Given the description of an element on the screen output the (x, y) to click on. 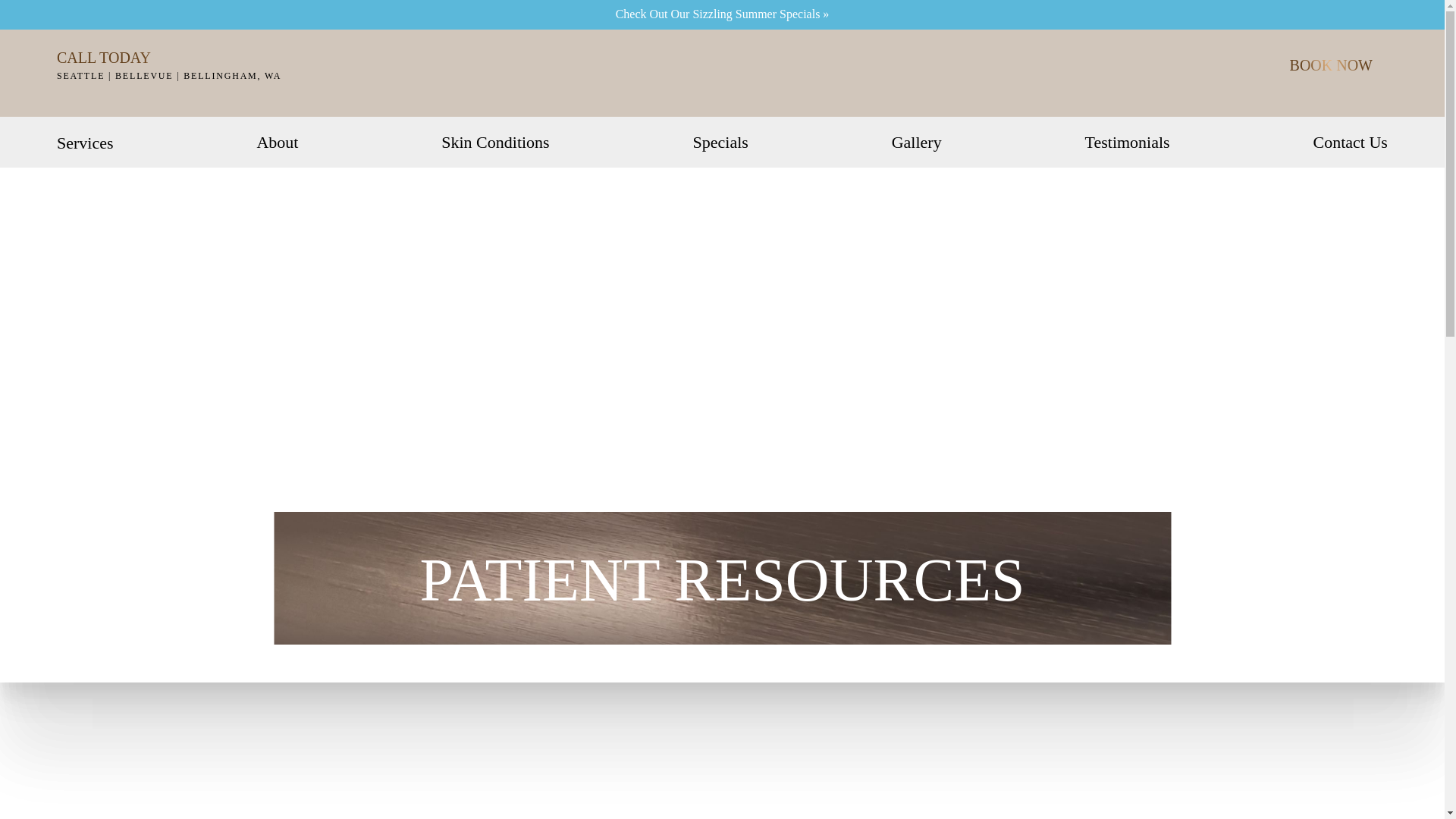
Skin Conditions (494, 142)
Services (84, 142)
Testimonials (1127, 142)
Gallery (916, 142)
Contact Us (1350, 142)
Specials (720, 142)
